Given the description of an element on the screen output the (x, y) to click on. 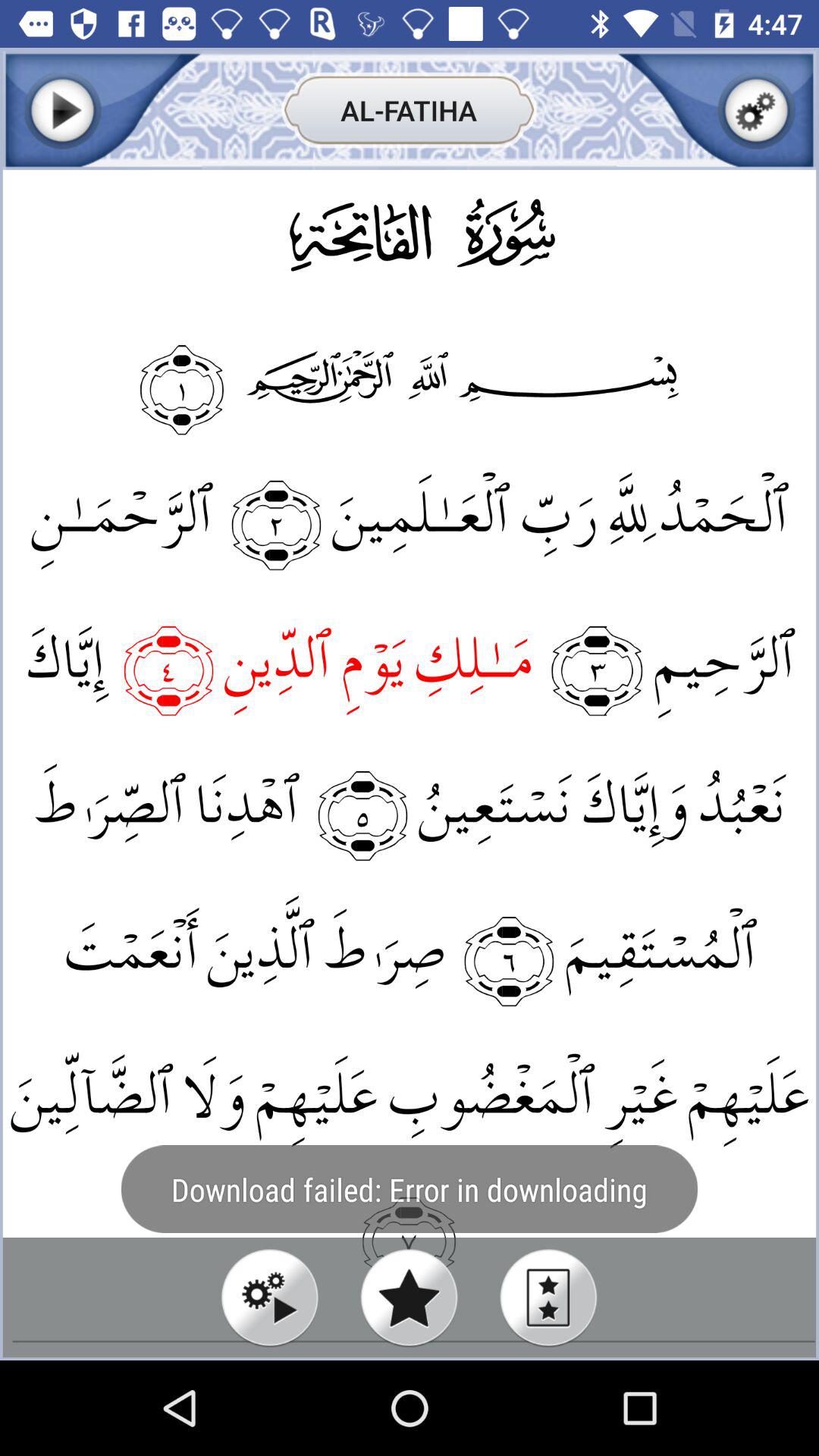
play (62, 110)
